Given the description of an element on the screen output the (x, y) to click on. 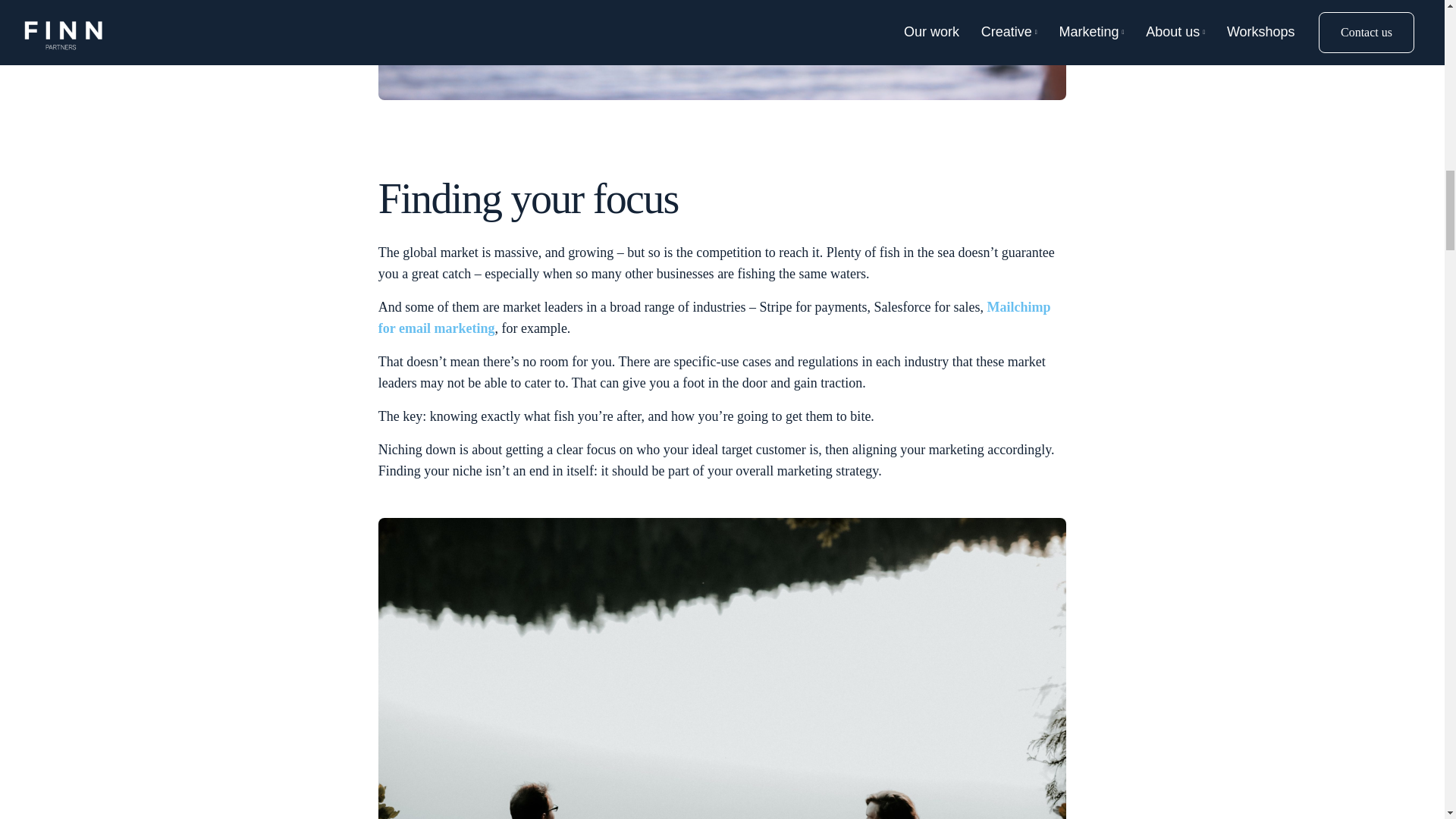
Mailchimp for email marketing (714, 317)
